Given the description of an element on the screen output the (x, y) to click on. 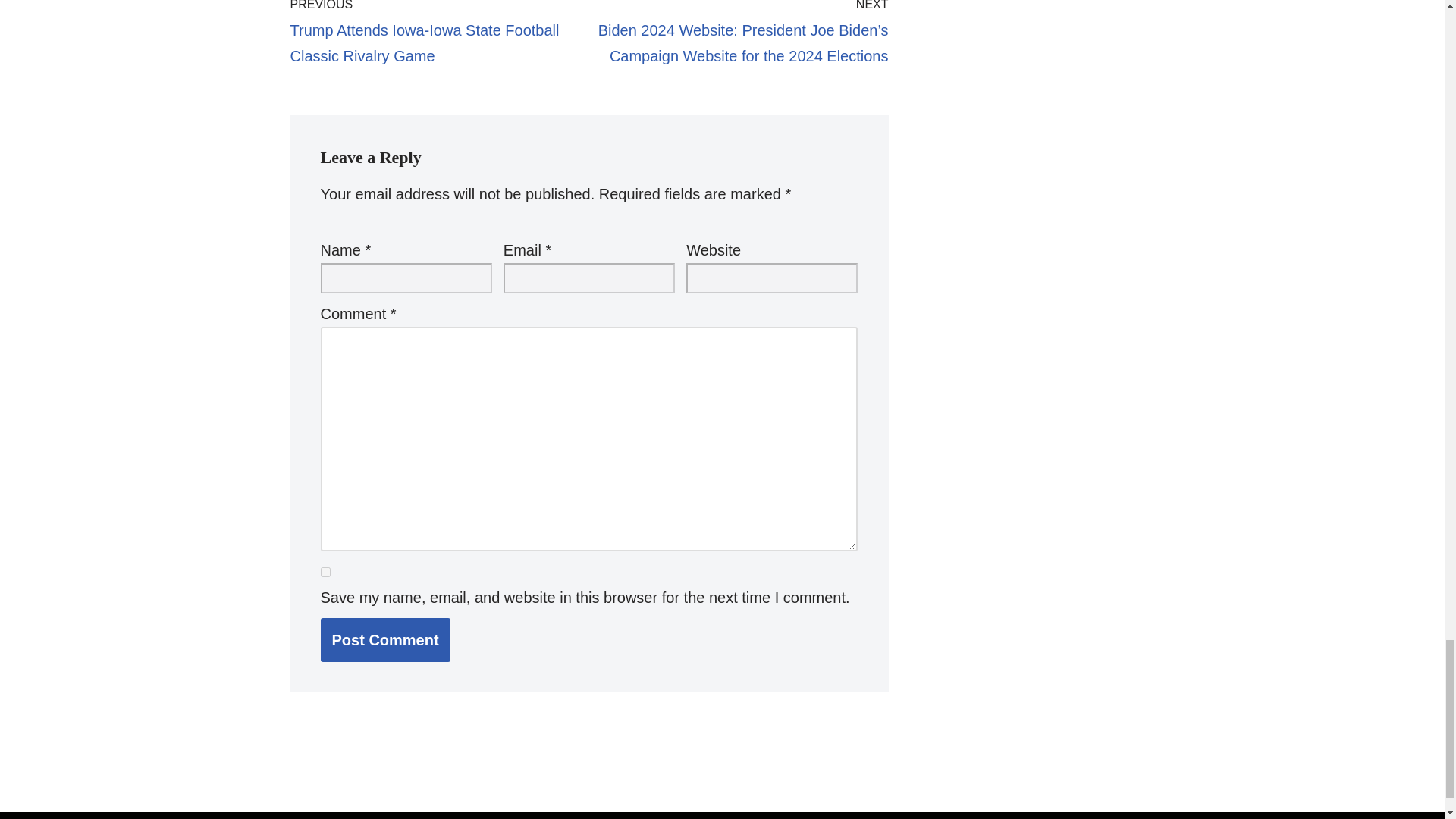
Post Comment (384, 639)
yes (325, 572)
